Given the description of an element on the screen output the (x, y) to click on. 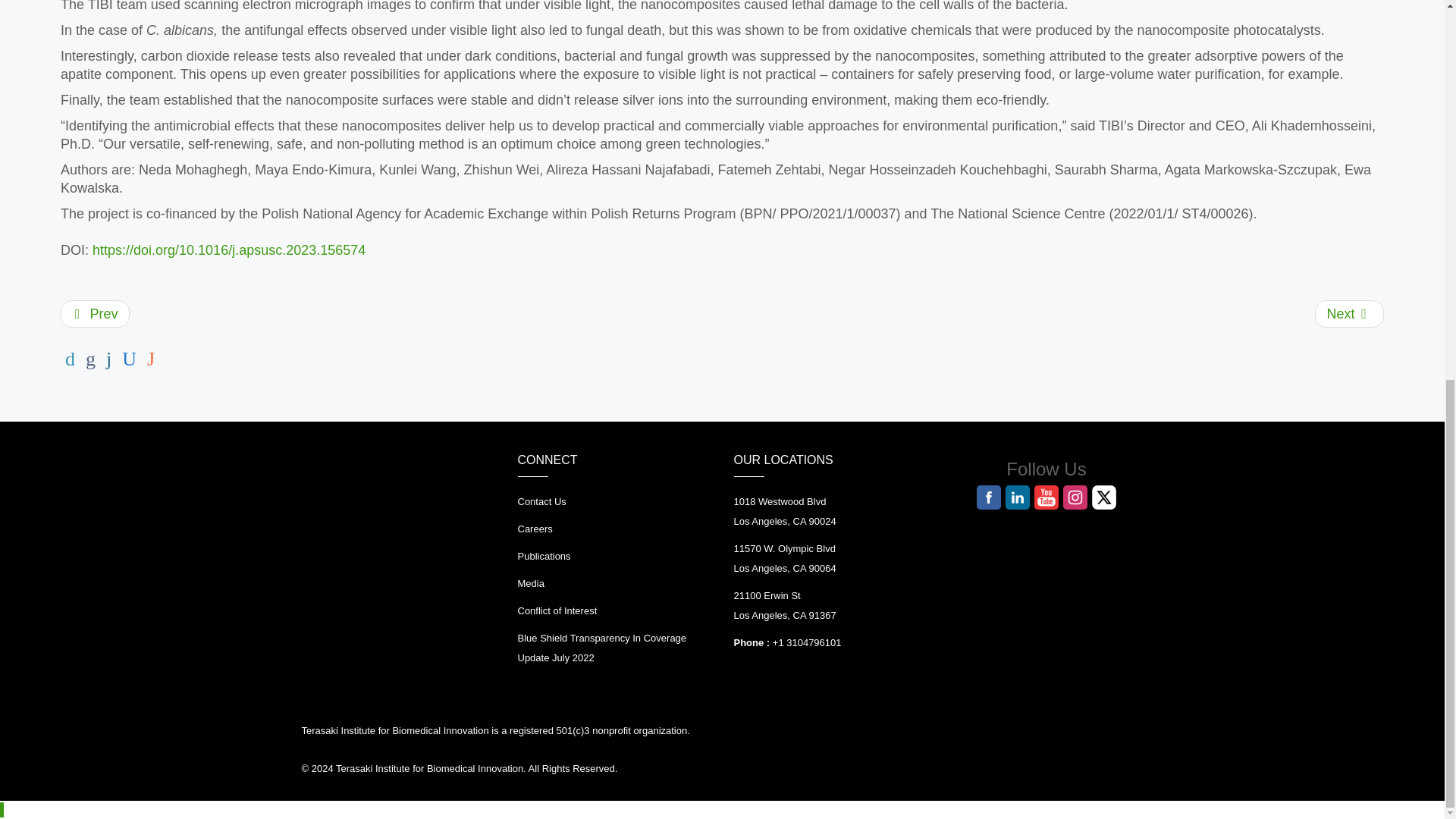
Follow us on Instagram (1074, 497)
Follow us on Facebook (988, 497)
Follow us on Linkedin (1017, 497)
Follow us on Youtube (1045, 497)
